Given the description of an element on the screen output the (x, y) to click on. 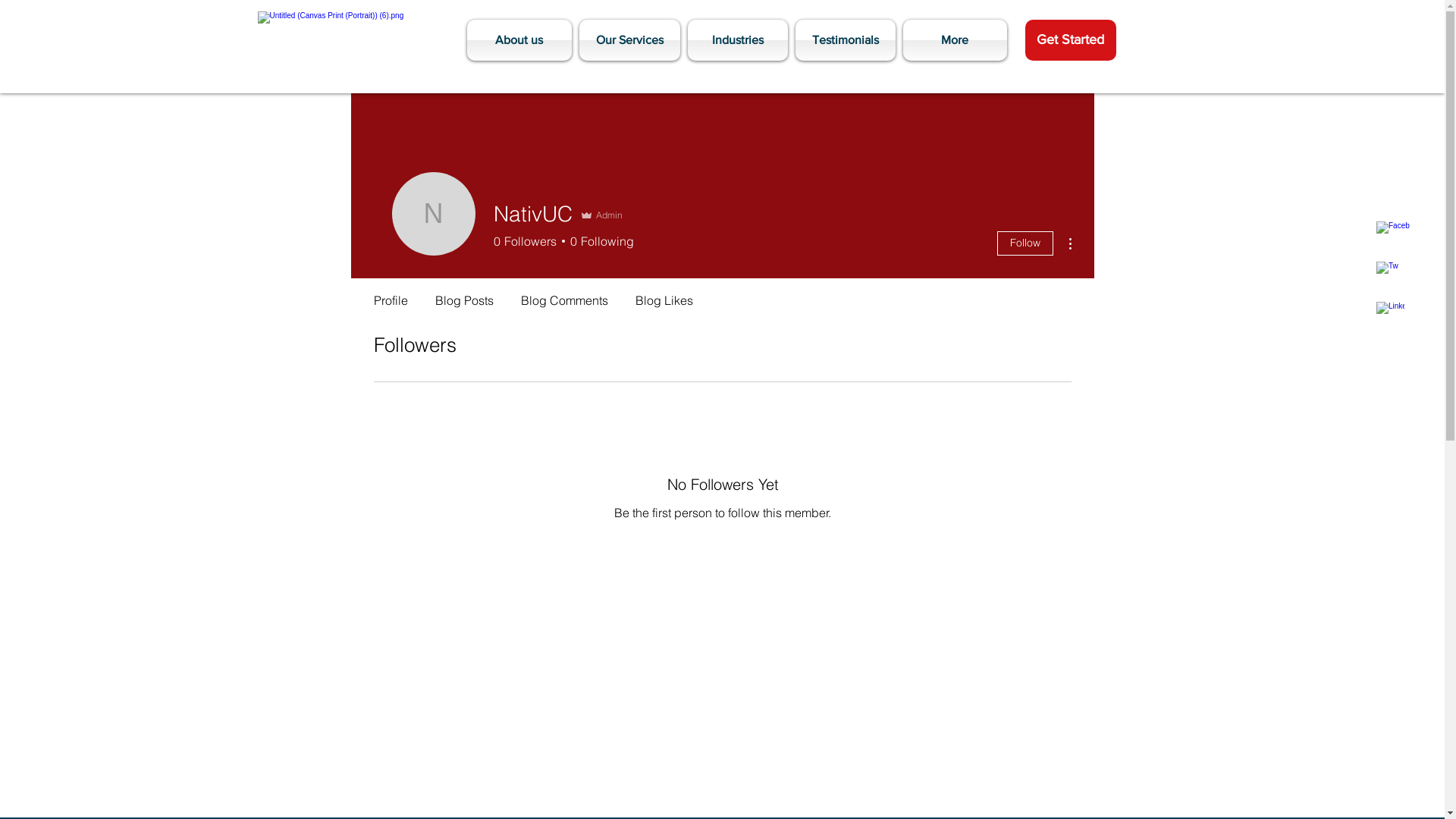
Industries Element type: text (737, 39)
Blog Likes Element type: text (663, 293)
Blog Posts Element type: text (464, 293)
Testimonials Element type: text (845, 39)
Get Started Element type: text (1070, 39)
Blog Comments Element type: text (563, 293)
Nativ Logo Colour (2).png Element type: hover (356, 40)
0
Followers Element type: text (523, 240)
0
Following Element type: text (598, 240)
Our Services Element type: text (628, 39)
Follow Element type: text (1024, 243)
About us Element type: text (521, 39)
Profile Element type: text (389, 293)
Followers Element type: hover (721, 565)
